Given the description of an element on the screen output the (x, y) to click on. 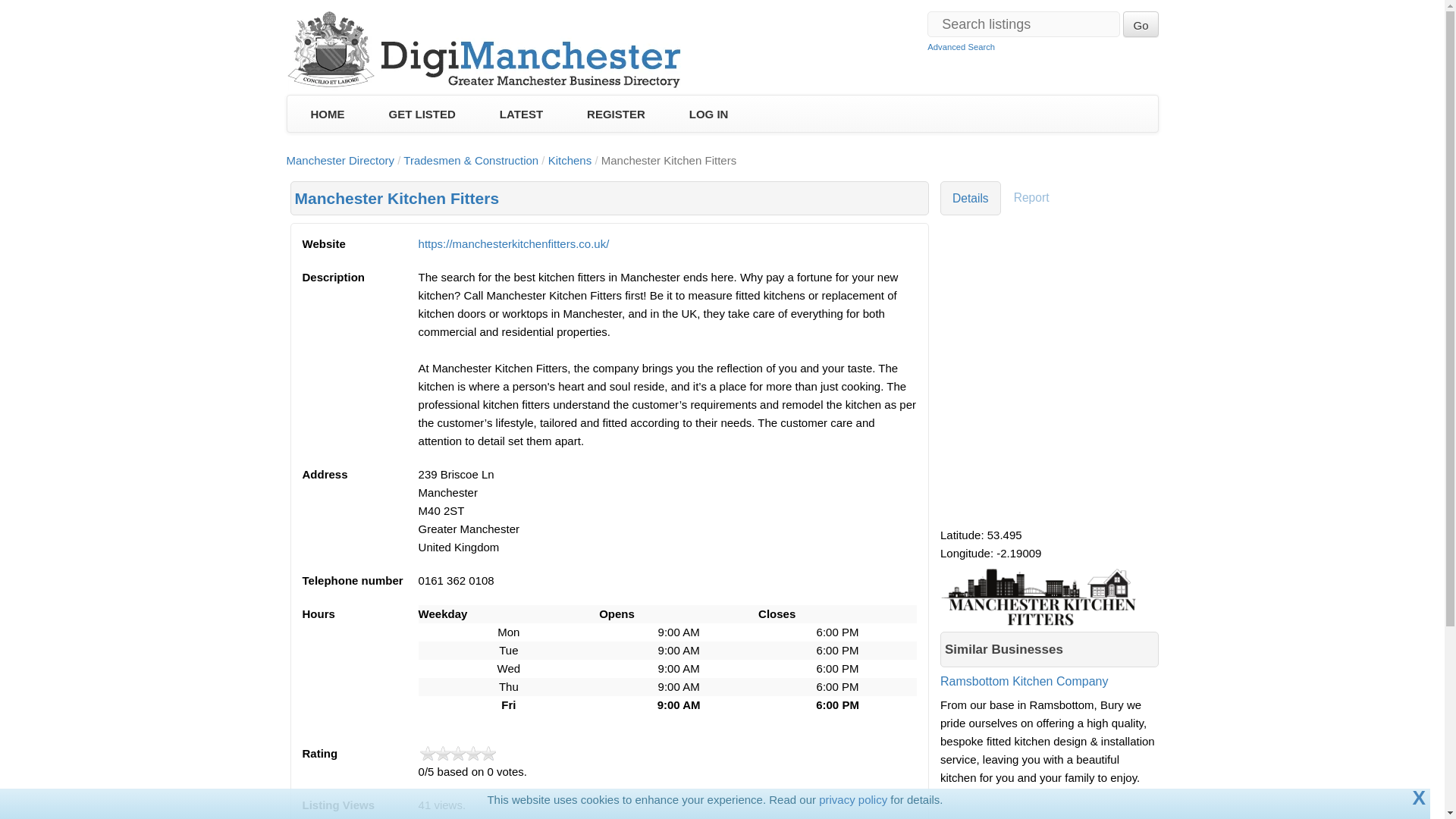
REGISTER (615, 114)
privacy policy (852, 799)
Advanced Search (960, 46)
Manchester Directory (340, 160)
Ramsbottom Kitchen Company (1049, 692)
HOME (326, 114)
Manchester Kitchen Fitters Logo (1048, 594)
Report (1032, 197)
GET LISTED (422, 114)
Kitchens (570, 160)
LOG IN (708, 114)
Details (970, 197)
Go (1139, 23)
LATEST (520, 114)
Manchester Kitchen Fitters (396, 198)
